Given the description of an element on the screen output the (x, y) to click on. 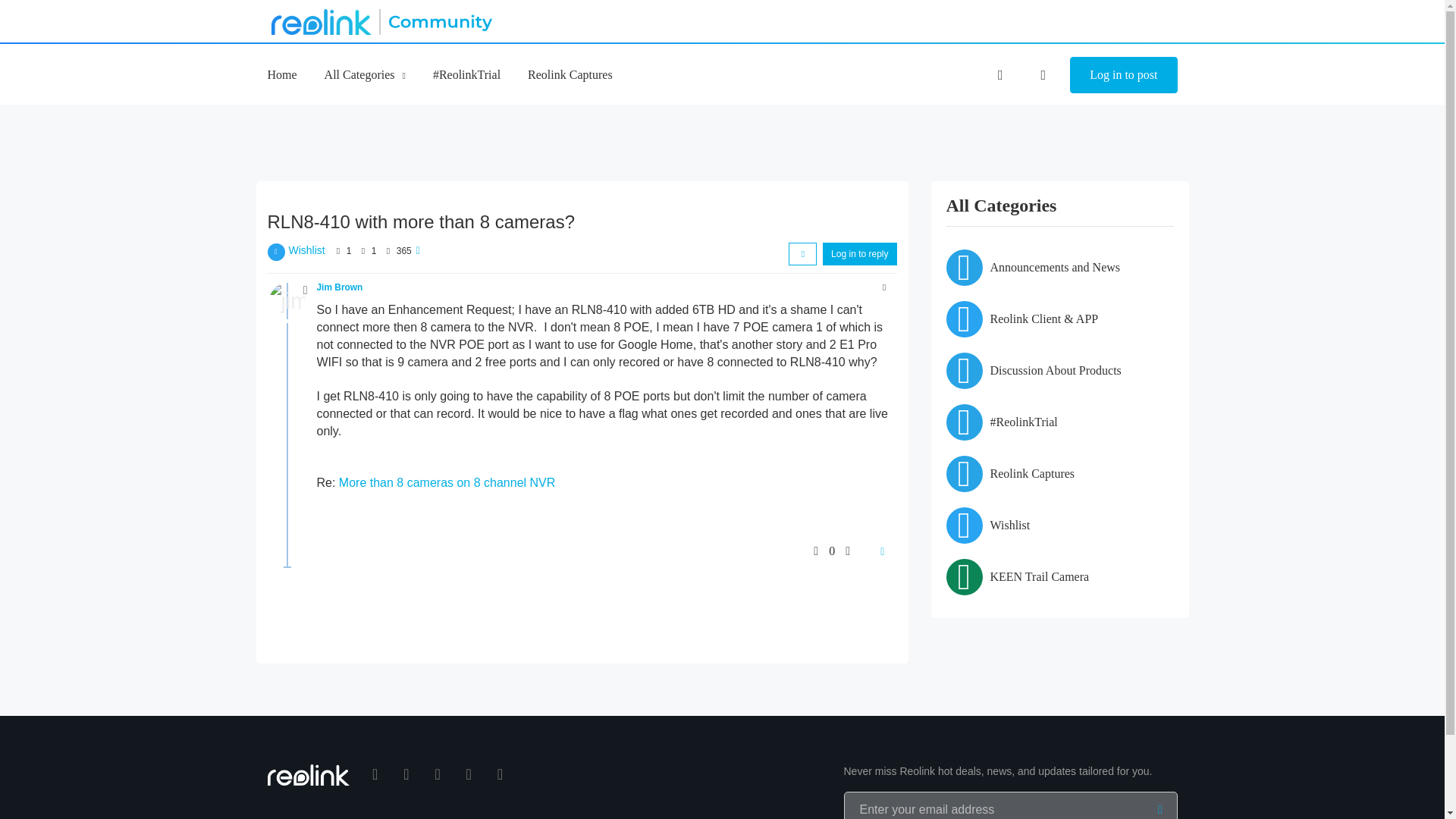
Home (281, 74)
Posters (338, 250)
All Categories (365, 74)
Wishlist (306, 250)
Views (387, 250)
Reolink Captures (569, 74)
Log in to post (1123, 75)
365 (404, 250)
Jim Brown (339, 286)
Sort by (802, 253)
jimbrown.net (285, 300)
More than 8 cameras on 8 channel NVR (446, 481)
Posts (362, 250)
Log in to reply (859, 253)
